Given the description of an element on the screen output the (x, y) to click on. 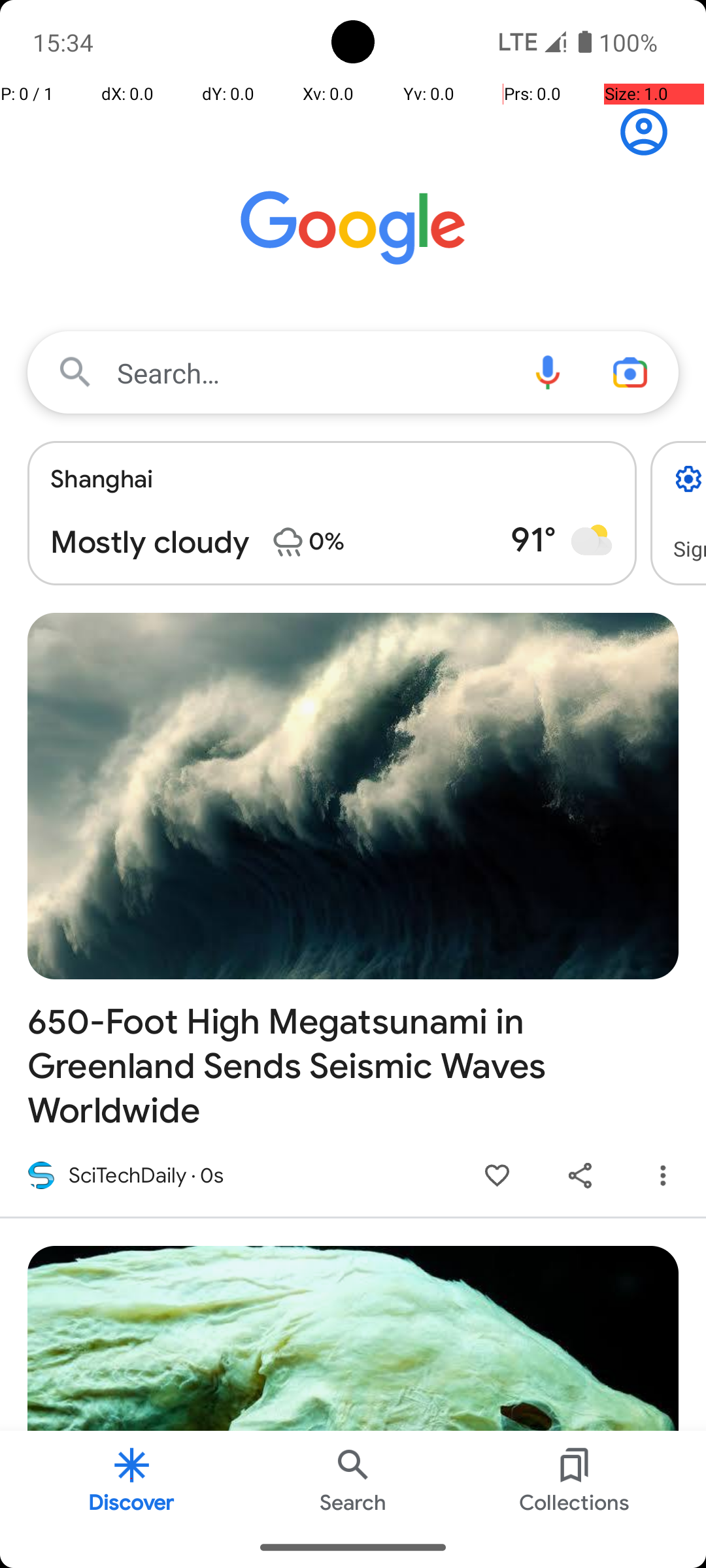
Sign in Element type: android.widget.FrameLayout (650, 131)
Collections Button Element type: android.widget.FrameLayout (574, 1478)
Like Element type: android.view.ViewGroup (497, 1175)
Share 650-Foot High Megatsunami in Greenland Sends Seismic Waves Worldwide Element type: android.view.ViewGroup (580, 1175)
Chance of precipitation Element type: android.widget.ImageView (287, 541)
